Given the description of an element on the screen output the (x, y) to click on. 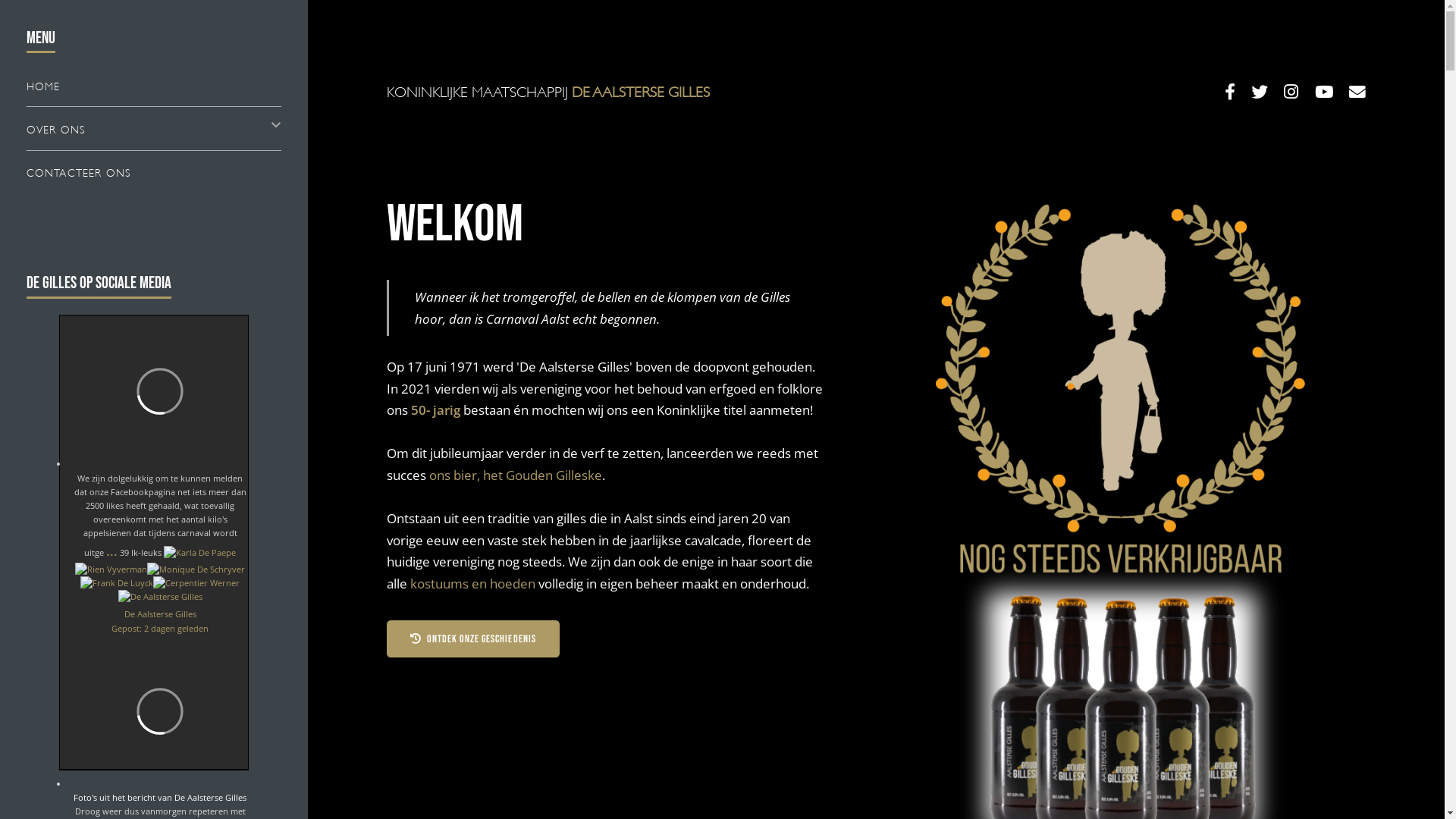
Gepost: 2 dagen geleden Element type: text (159, 627)
Foto's uit het bericht van De Aalsterse Gilles Element type: text (159, 797)
Frank De Luyck Element type: hover (116, 582)
KONINKLIJKE MAATSCHAPPIJ DE AALSTERSE GILLES Element type: text (631, 92)
Rien Vyverman Element type: hover (111, 569)
De Aalsterse Gilles Element type: text (160, 613)
kostuums en hoeden Element type: text (472, 583)
Cerpentier Werner Element type: hover (196, 582)
HOME Element type: text (153, 84)
Monique De Schryver Element type: hover (195, 569)
ONTDEK ONZE GESCHIEDENIS Element type: text (472, 638)
CONTACTEER ONS Element type: text (153, 171)
Karla De Paepe Element type: hover (199, 552)
... Element type: text (111, 550)
ons bier, het Gouden Gilleske Element type: text (515, 474)
